Given the description of an element on the screen output the (x, y) to click on. 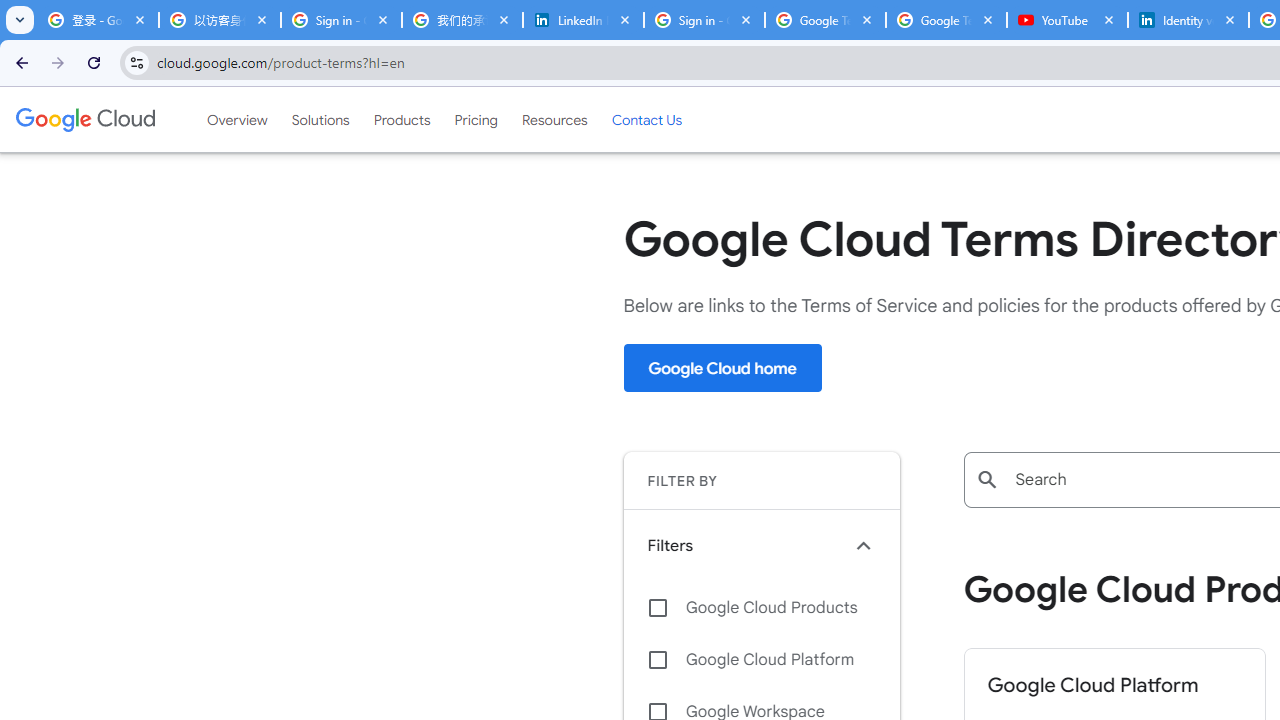
Pricing (476, 119)
Sign in - Google Accounts (704, 20)
YouTube (1067, 20)
Contact Us (646, 119)
Google Cloud home (722, 367)
View site information (136, 62)
LinkedIn Privacy Policy (583, 20)
Reload (93, 62)
Forward (57, 62)
Search tabs (20, 20)
